Given the description of an element on the screen output the (x, y) to click on. 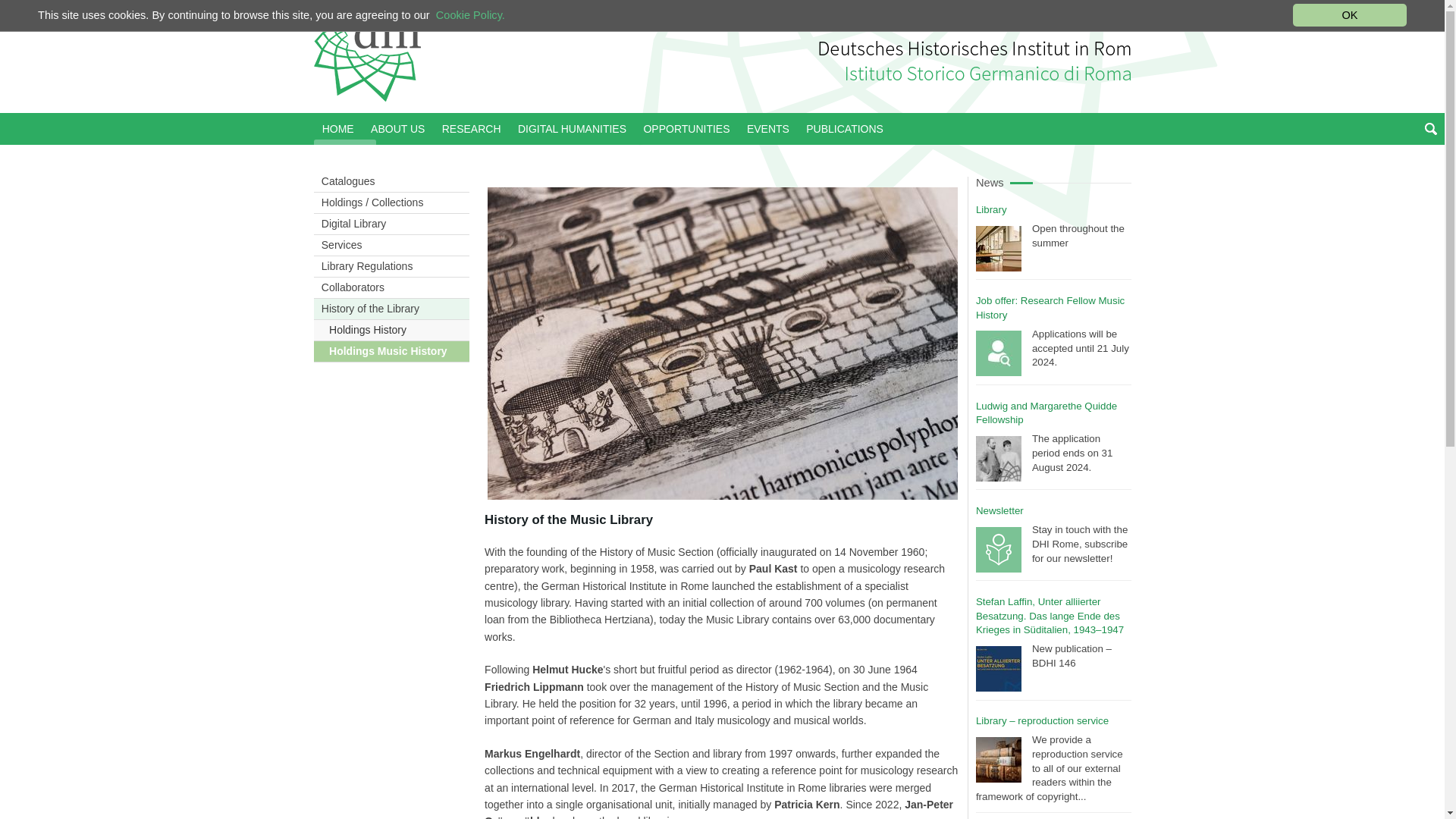
Ludwig and Margarethe Quidde Fellowship (1045, 412)
DEUTSCH (1045, 8)
MUSIC HISTORY DEPARTMENT (932, 8)
DHI Rom (368, 56)
Library (991, 209)
Job offer: Research Fellow Music History (1049, 307)
ITALIANO (1103, 8)
Newsletter (999, 510)
